Given the description of an element on the screen output the (x, y) to click on. 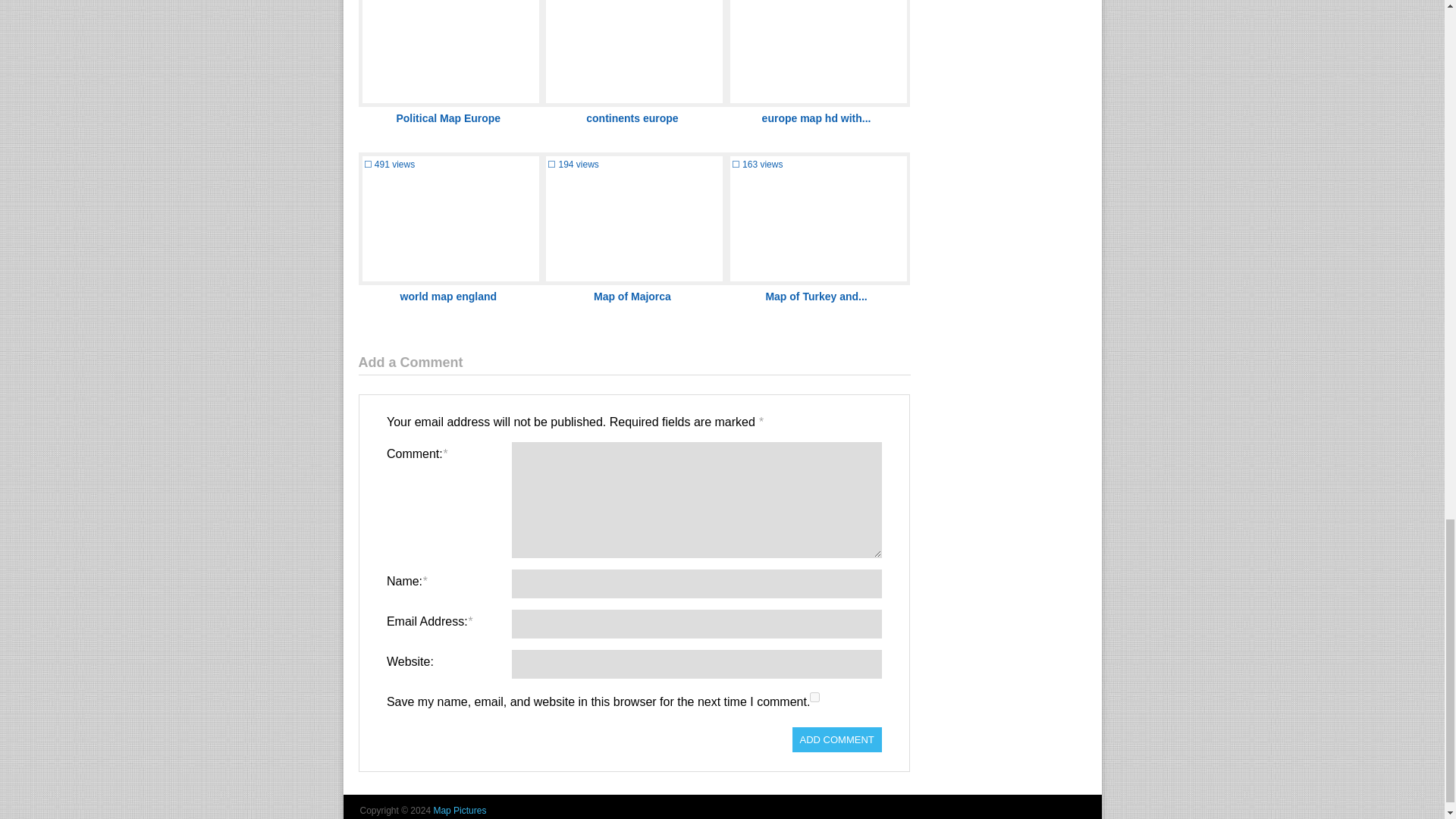
Add Comment (837, 739)
yes (814, 696)
Political Map Europe (448, 118)
